Given the description of an element on the screen output the (x, y) to click on. 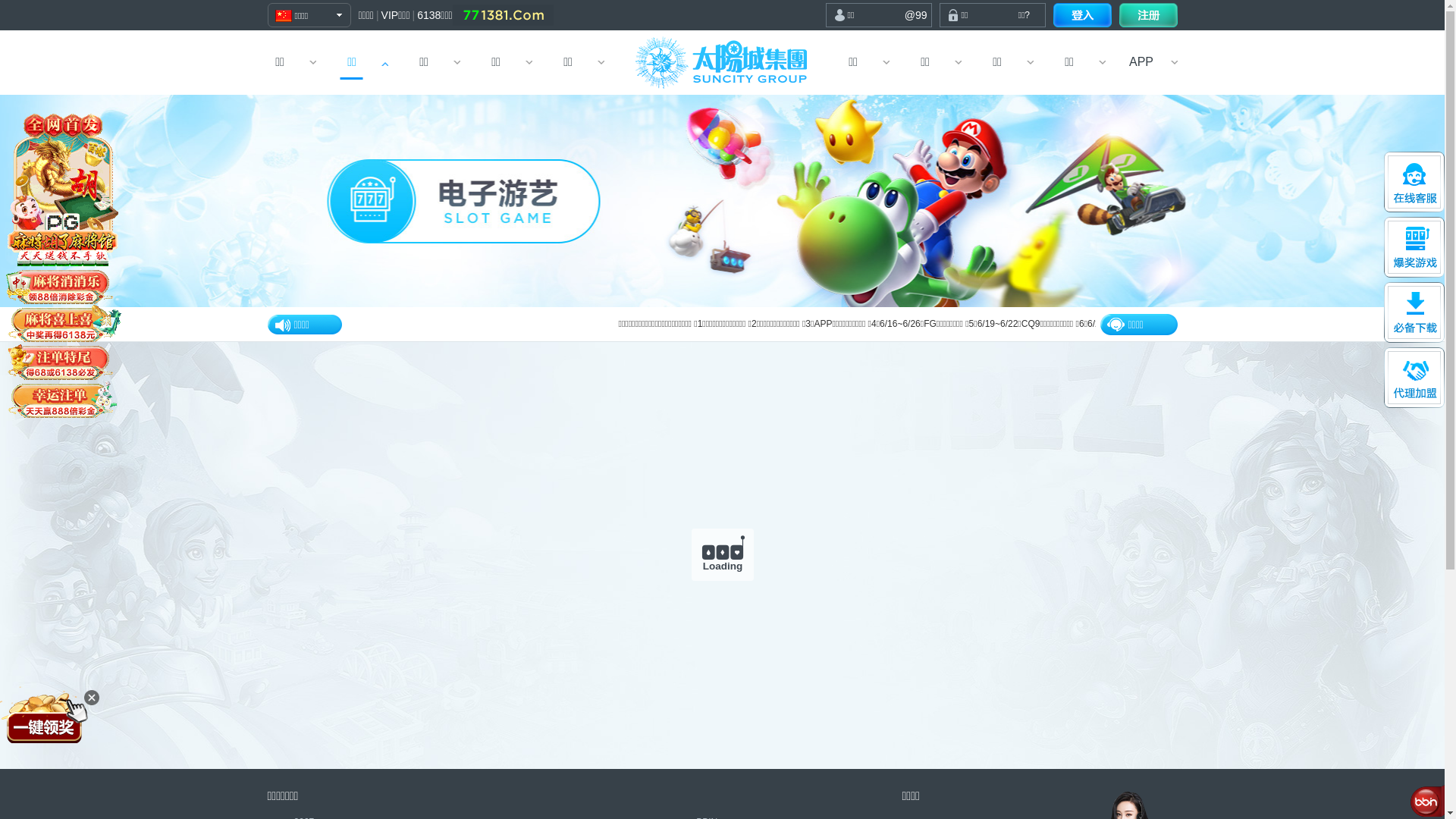
APP Element type: text (1141, 62)
